Given the description of an element on the screen output the (x, y) to click on. 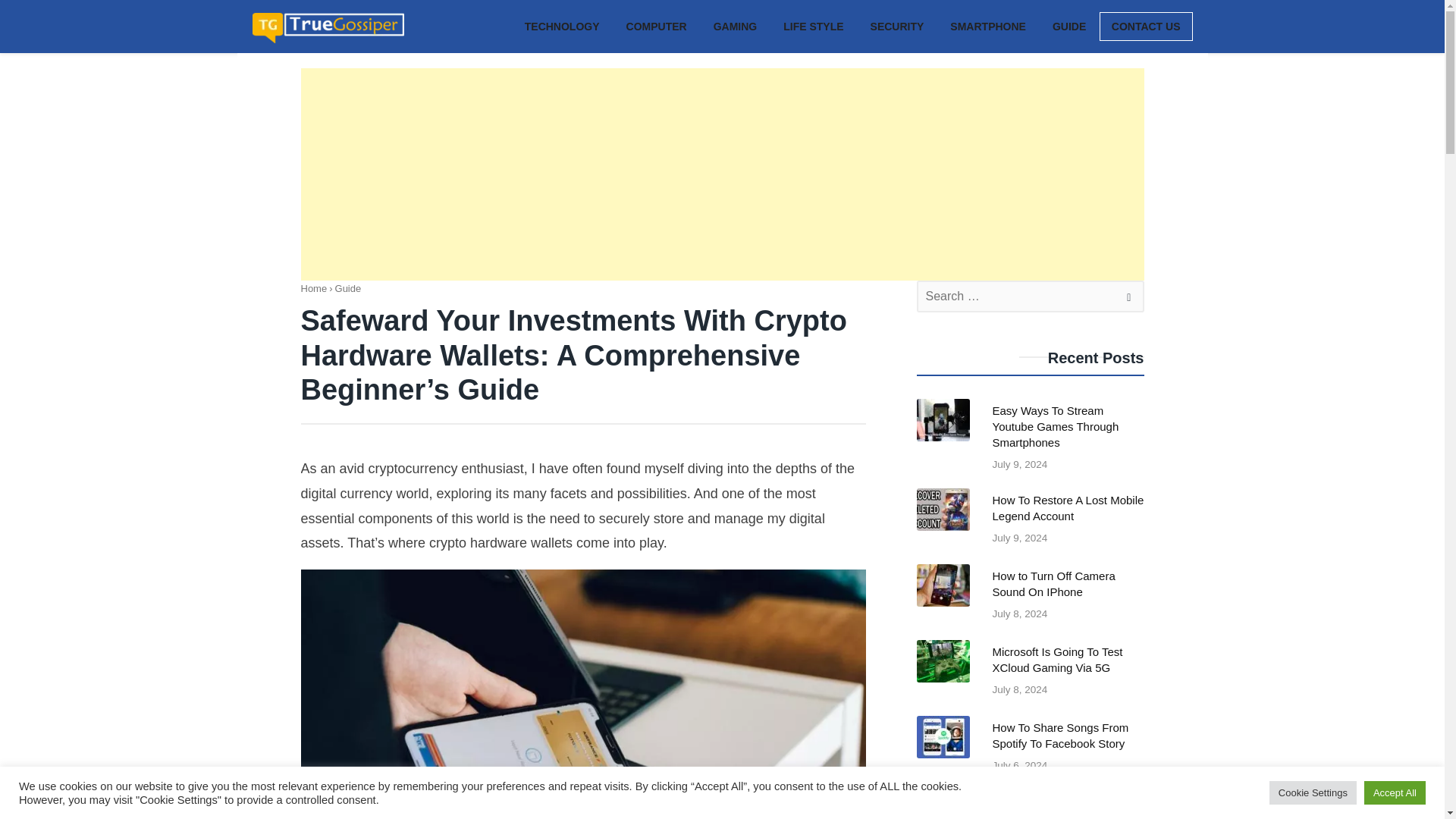
Guide (347, 288)
Home (312, 288)
SECURITY (1028, 526)
Microsoft Is Going To Test XCloud Gaming Via 5G (897, 25)
How to Turn Off Camera Sound On IPhone (1028, 677)
SMARTPHONE (1028, 677)
How To Restore A Lost Mobile Legend Account (1028, 601)
Advertisement (988, 25)
COMPUTER (1028, 601)
Easy Ways To Stream Youtube Games Through Smartphones (1028, 526)
